Given the description of an element on the screen output the (x, y) to click on. 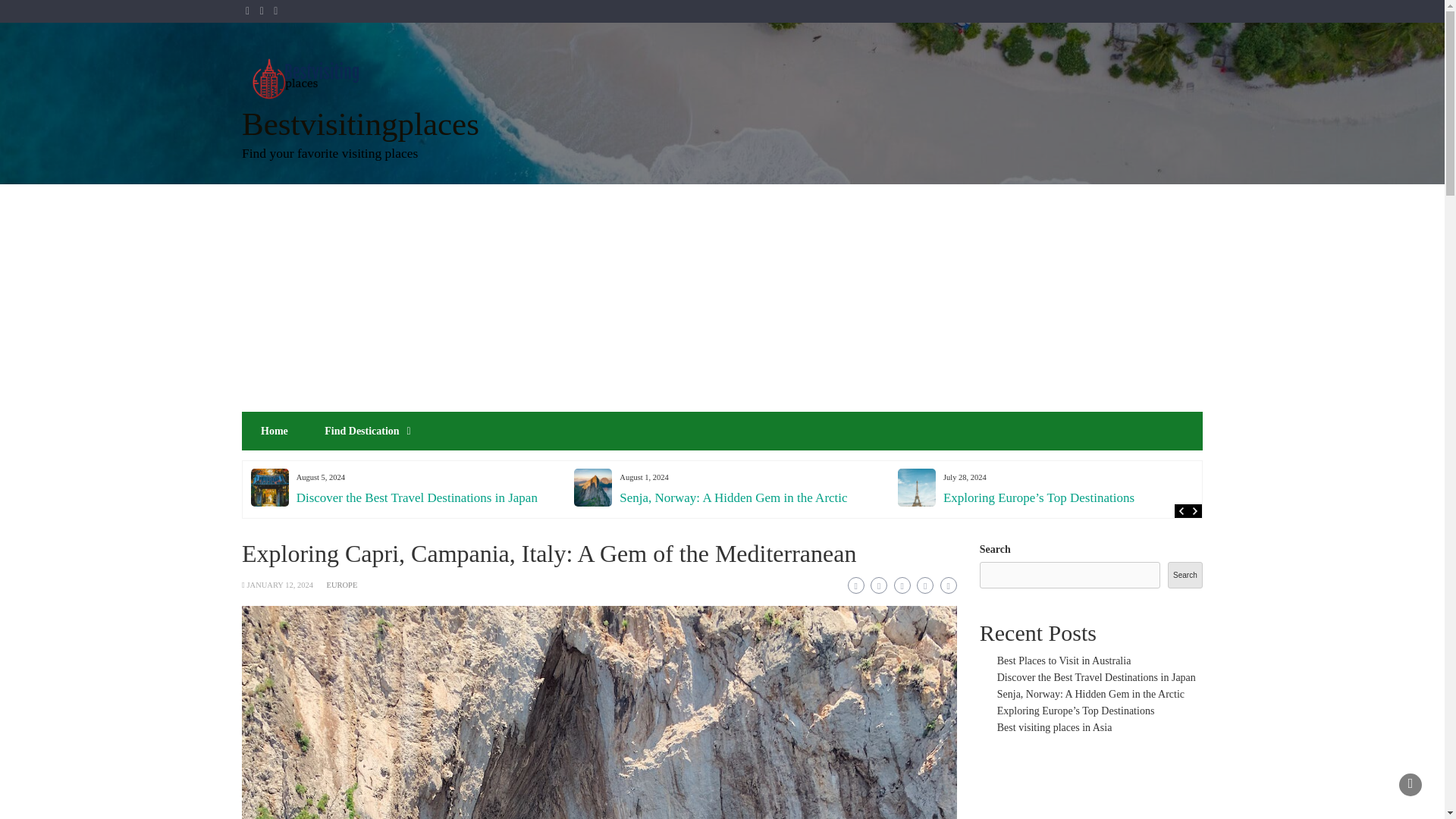
EUROPE (342, 584)
Search (1184, 574)
JANUARY 12, 2024 (279, 584)
Bestvisitingplaces (360, 123)
Home (274, 430)
Find Destication (360, 430)
Senja, Norway: A Hidden Gem in the Arctic (733, 497)
Discover the Best Travel Destinations in Japan (417, 497)
